Given the description of an element on the screen output the (x, y) to click on. 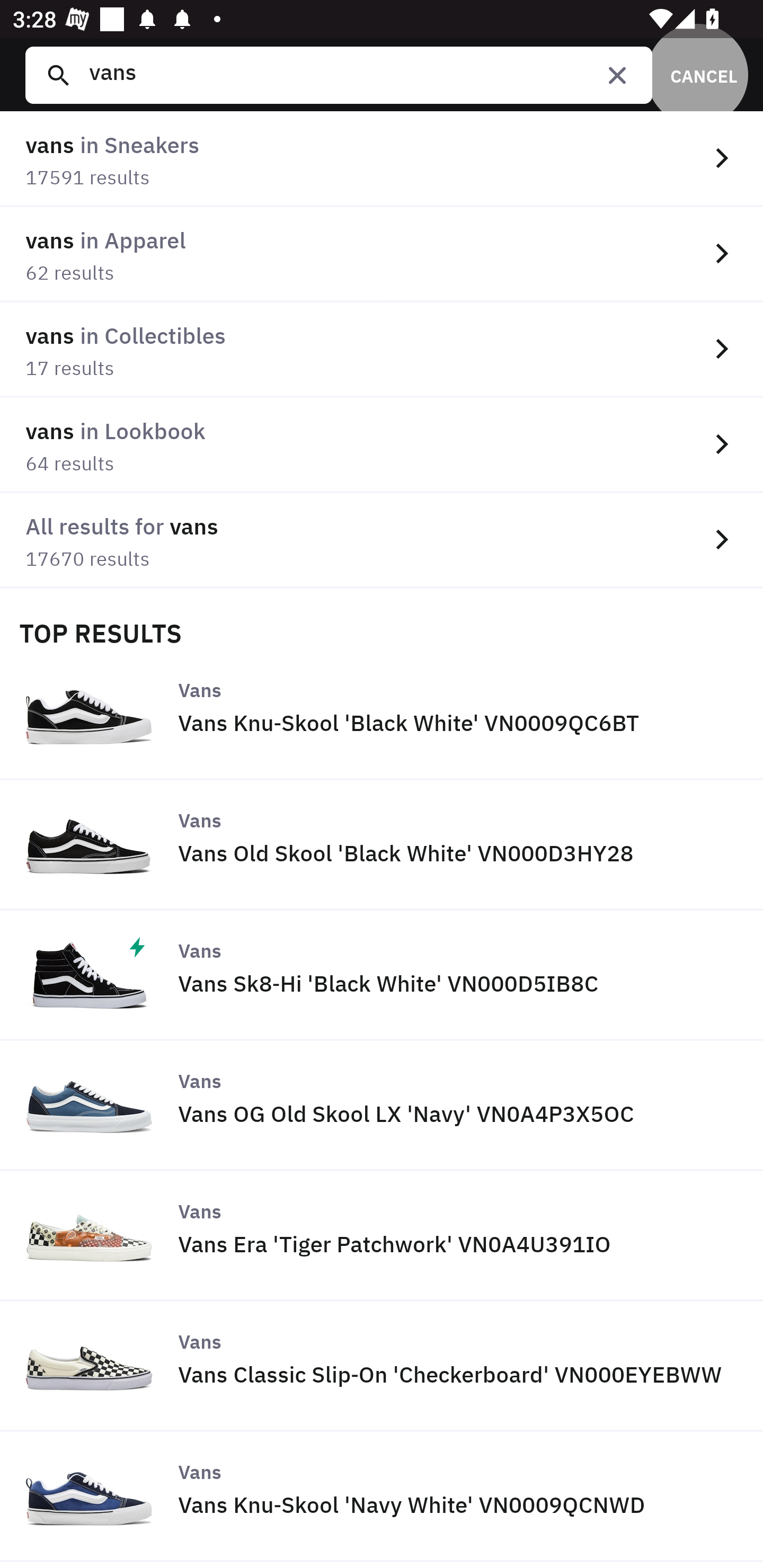
CANCEL (697, 74)
vans (358, 75)
 (617, 75)
vans  in Sneakers 17591 results  (381, 158)
vans  in Apparel 62 results  (381, 254)
vans  in Collectibles 17 results  (381, 349)
vans  in Lookbook 64 results  (381, 444)
All results for  vans 17670 results  (381, 540)
Vans Vans Knu‑Skool 'Black White' VN0009QC6BT (381, 714)
Vans Vans Old Skool 'Black White' VN000D3HY28 (381, 844)
 Vans Vans Sk8‑Hi 'Black White' VN000D5IB8C (381, 975)
Vans Vans OG Old Skool LX 'Navy' VN0A4P3X5OC (381, 1106)
Vans Vans Era 'Tiger Patchwork' VN0A4U391IO (381, 1236)
Vans Vans Knu‑Skool 'Navy White' VN0009QCNWD (381, 1496)
